Given the description of an element on the screen output the (x, y) to click on. 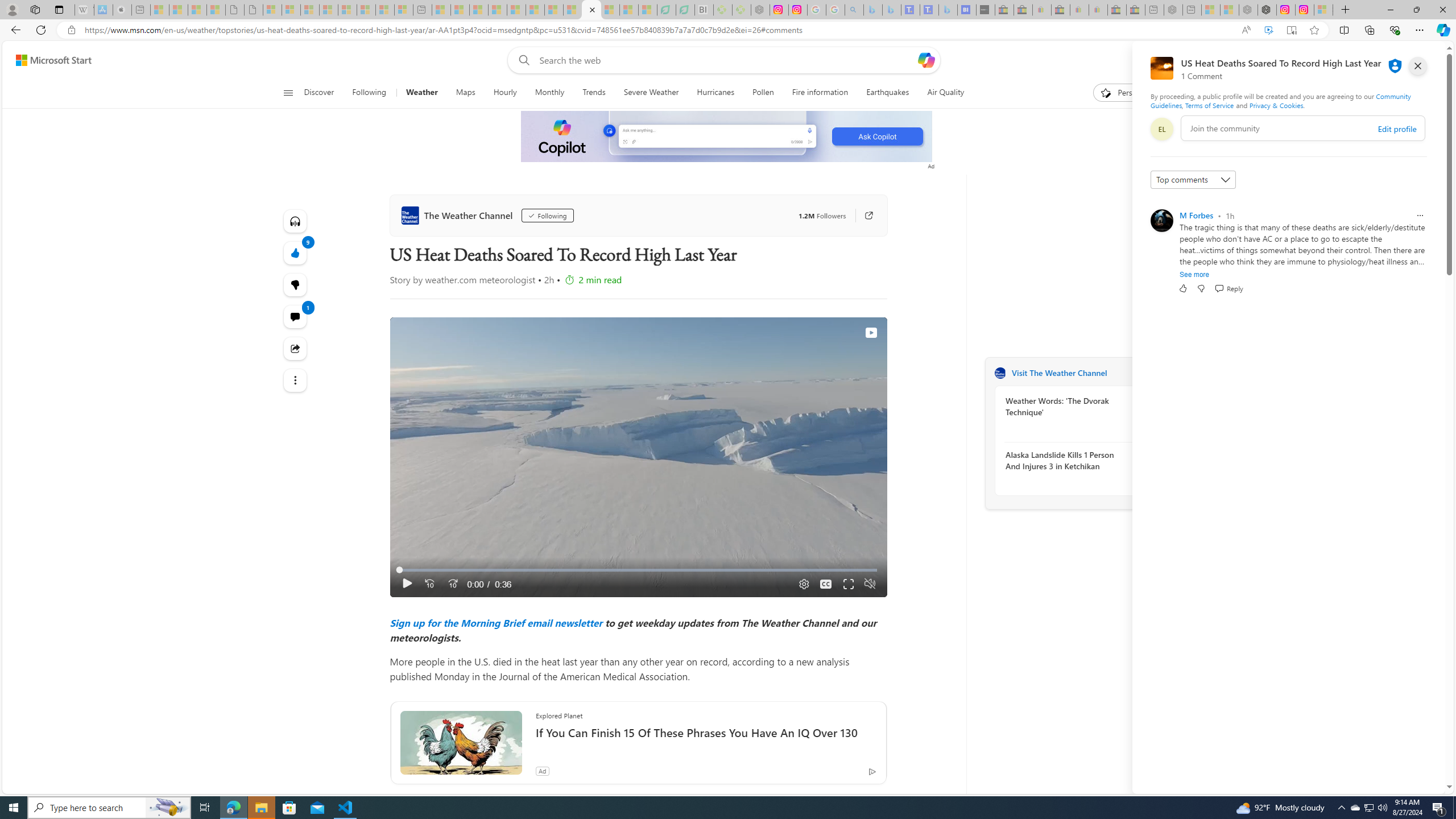
Go to publisher's site (868, 215)
Seek Forward (452, 583)
Sign up for the Morning Brief email newsletter (496, 621)
M Forbes (1196, 215)
comment-box (1302, 127)
